Given the description of an element on the screen output the (x, y) to click on. 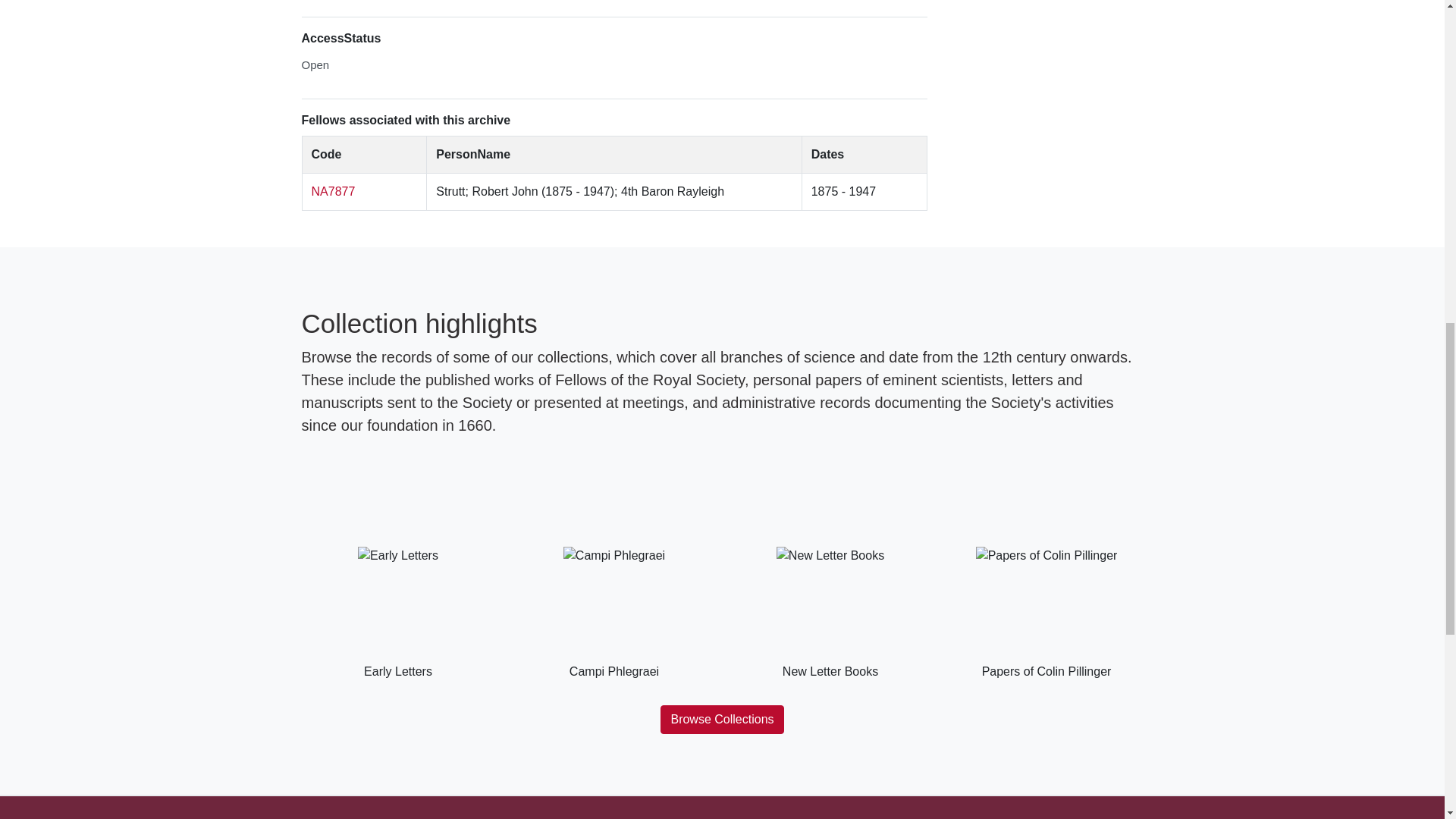
NA7877 (333, 191)
Browse Collections (722, 719)
Show related Persons records. (333, 191)
